Given the description of an element on the screen output the (x, y) to click on. 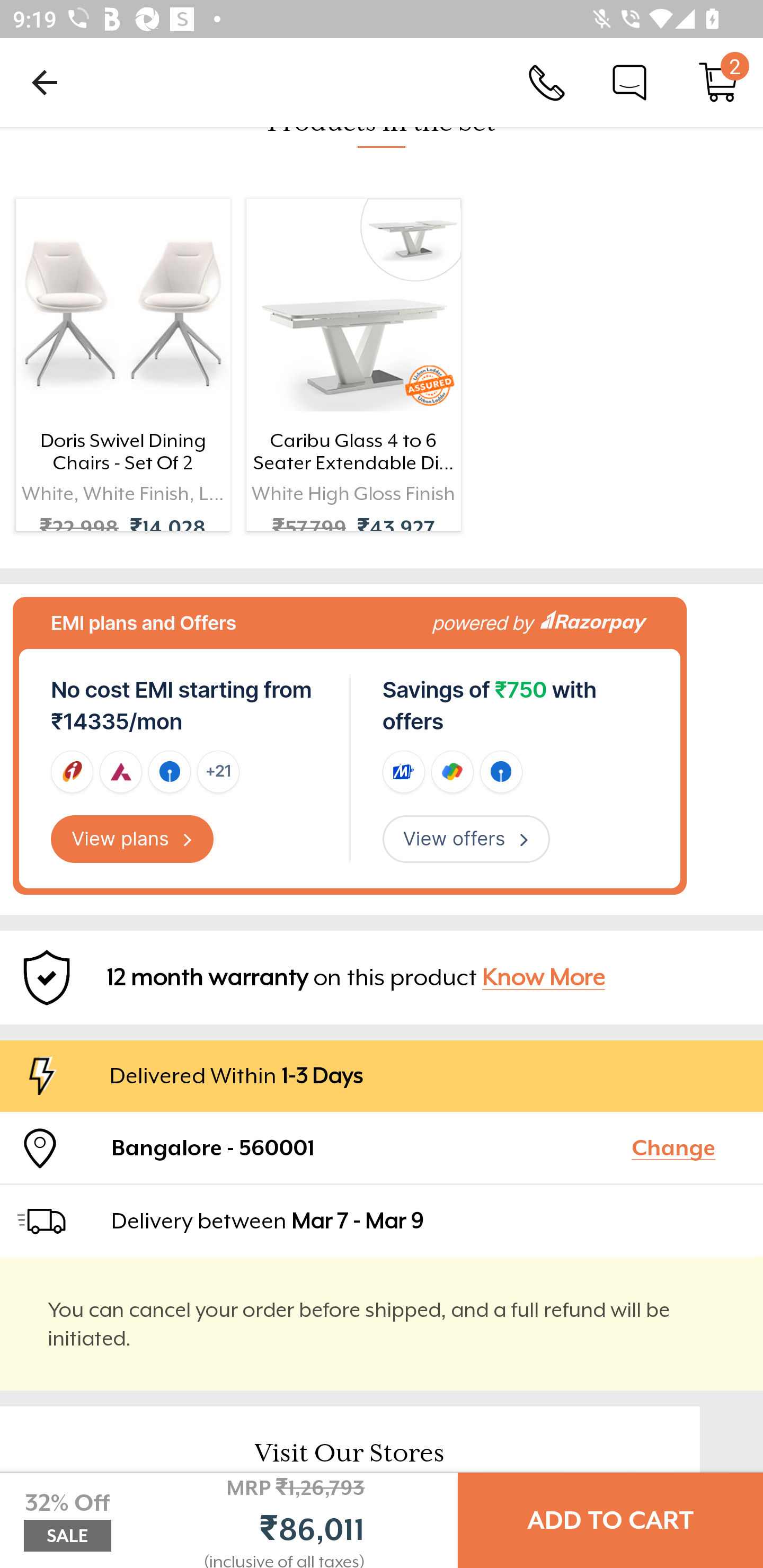
Navigate up (44, 82)
Call Us (546, 81)
Chat (629, 81)
Cart (718, 81)
View plans (132, 839)
View offers (465, 839)
12 month warranty on this product Know More (381, 977)
 Bangalore - 560001 Change (381, 1147)
Delivery between Mar 7 - Mar 9 (428, 1220)
ADD TO CART (610, 1520)
